Given the description of an element on the screen output the (x, y) to click on. 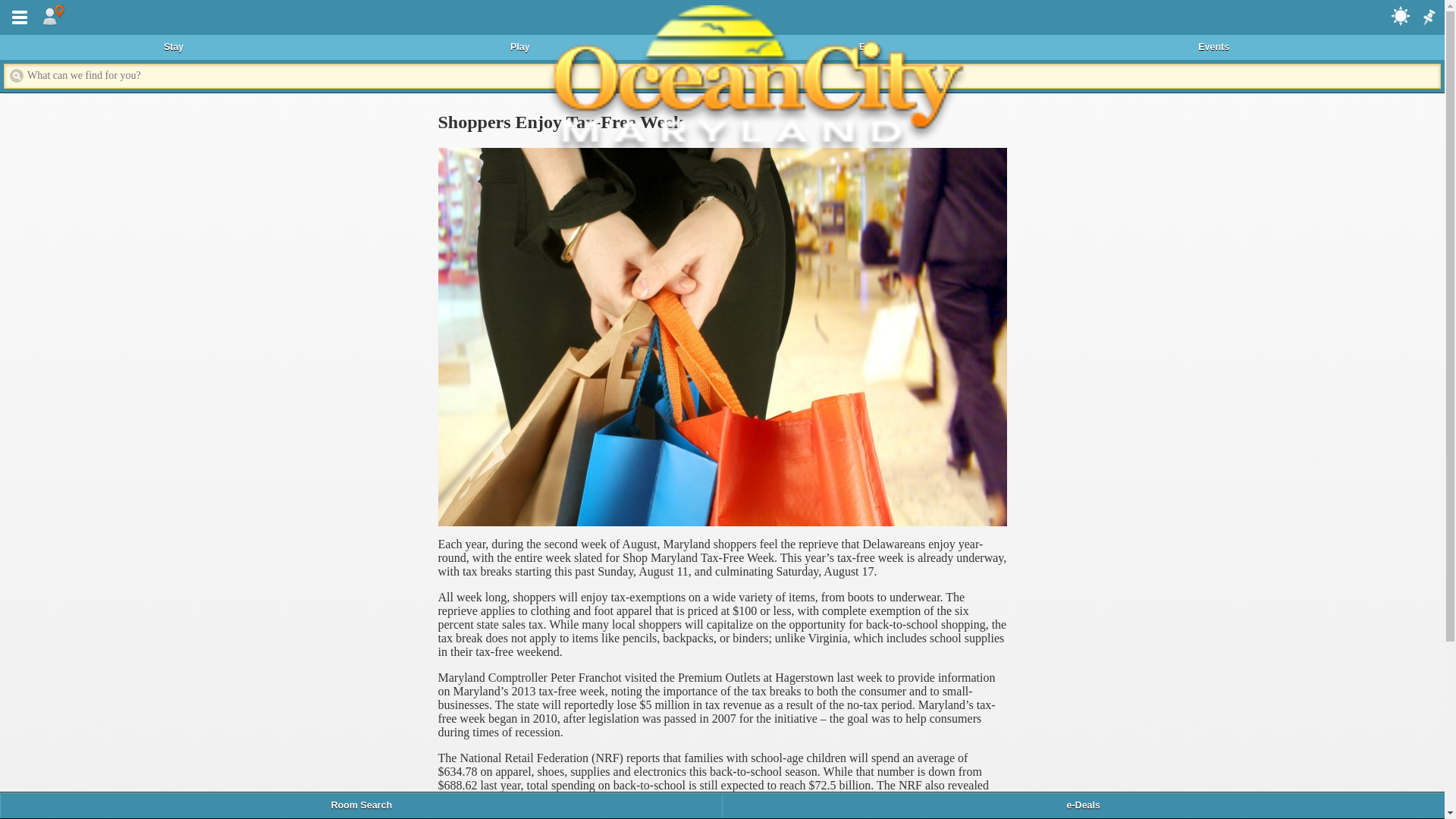
Menu (16, 15)
location (52, 15)
weather (1401, 14)
pin it (1428, 17)
